Given the description of an element on the screen output the (x, y) to click on. 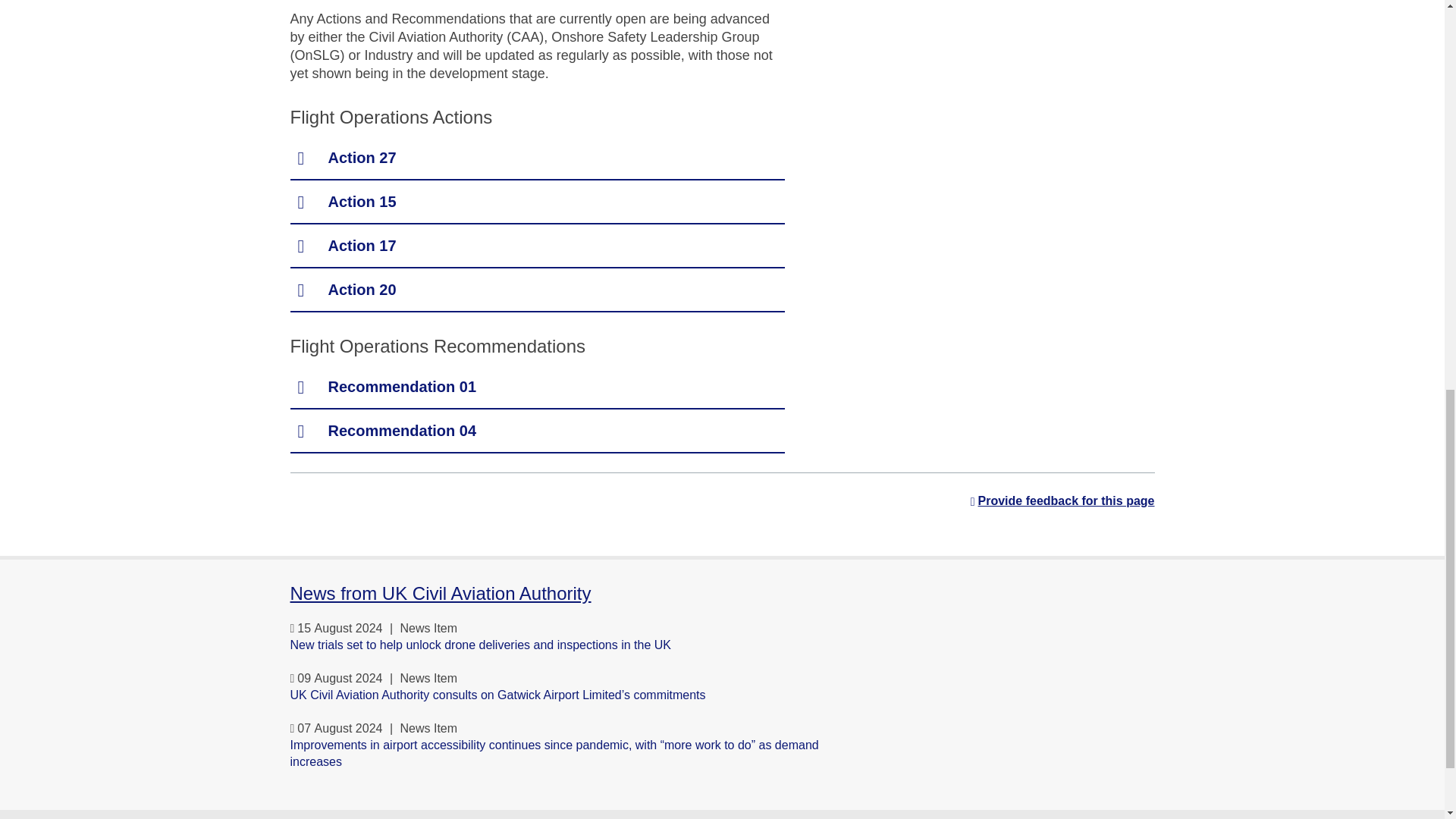
Action 15 (536, 202)
Recommendation 04 (536, 431)
Action 17 (536, 246)
News from UK Civil Aviation Authority (440, 593)
Action 20 (536, 290)
Provide feedback for this page (1062, 500)
Action 27 (536, 158)
Recommendation 01 (536, 387)
